Given the description of an element on the screen output the (x, y) to click on. 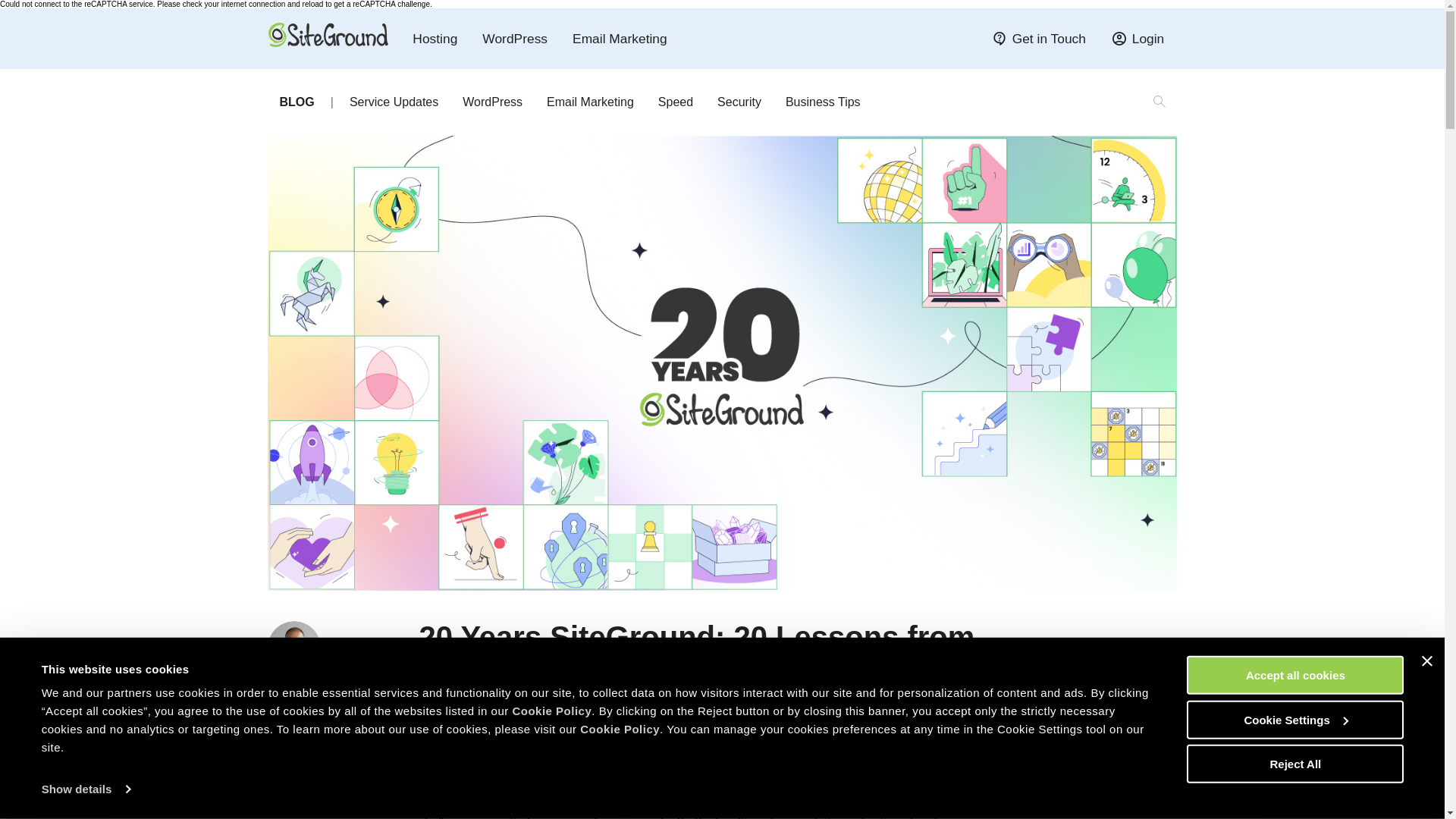
Cookie Policy (619, 728)
Cookies Link (619, 728)
Cookie Policy (551, 710)
Show details (85, 789)
Cookies Link (551, 710)
